Given the description of an element on the screen output the (x, y) to click on. 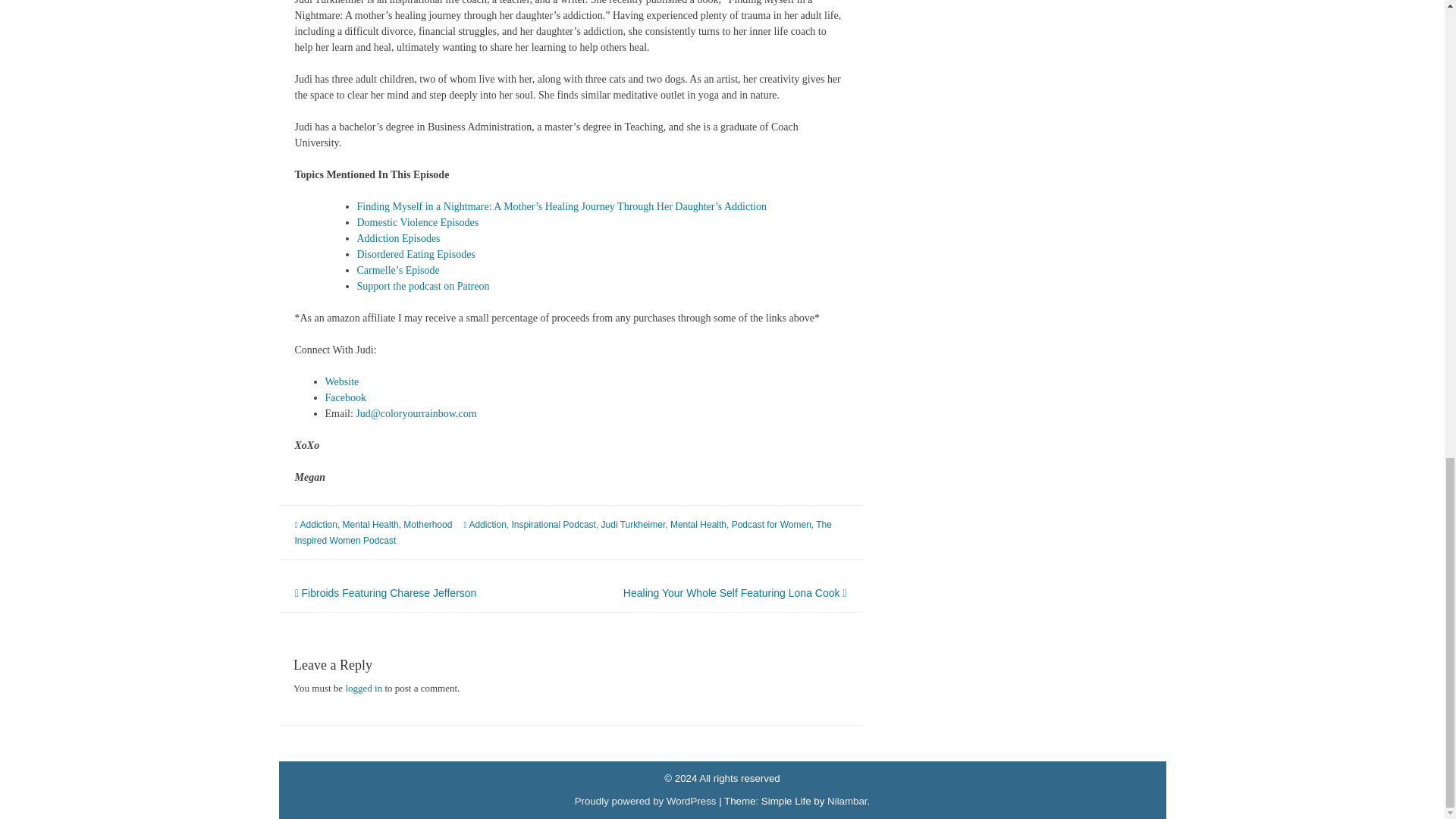
Disordered Eating Episodes (415, 254)
Addiction (486, 524)
Judi Turkheimer (633, 524)
The Inspired Women Podcast (562, 532)
Addiction Episodes (397, 238)
Facebook (344, 397)
Mental Health (697, 524)
Mental Health (370, 524)
Support the podcast on Patreon (422, 285)
Domestic Violence Episodes (417, 222)
